Given the description of an element on the screen output the (x, y) to click on. 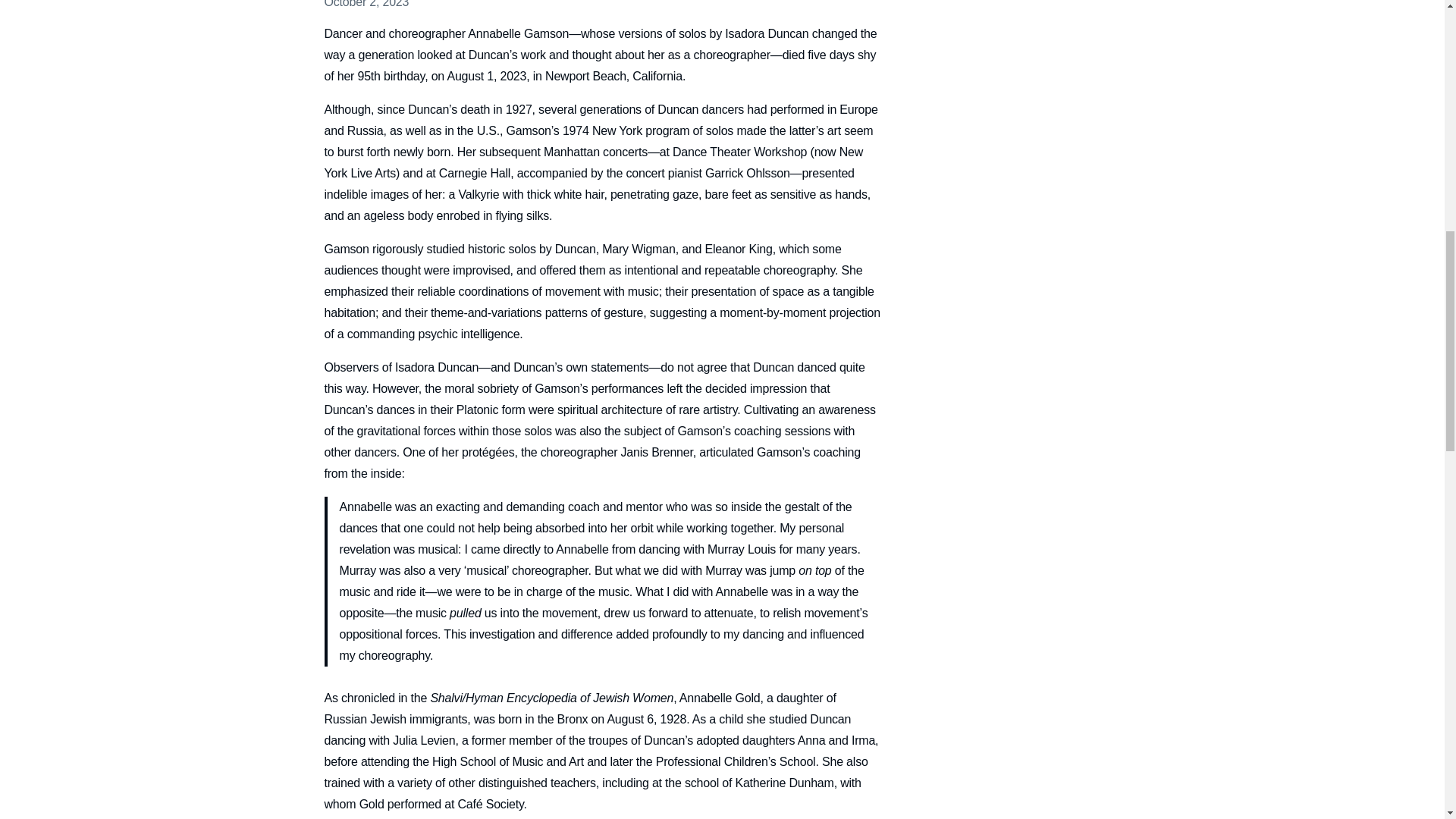
Dance Spirit: Always on the beat (1348, 159)
Dance Business Weekly: Best moves for your business (1152, 180)
Pointe: Ballet at its best (1008, 180)
Dance Magazine: Move and be moved (1124, 159)
The Dance Edit: A petit daily newsletter (954, 200)
